Given the description of an element on the screen output the (x, y) to click on. 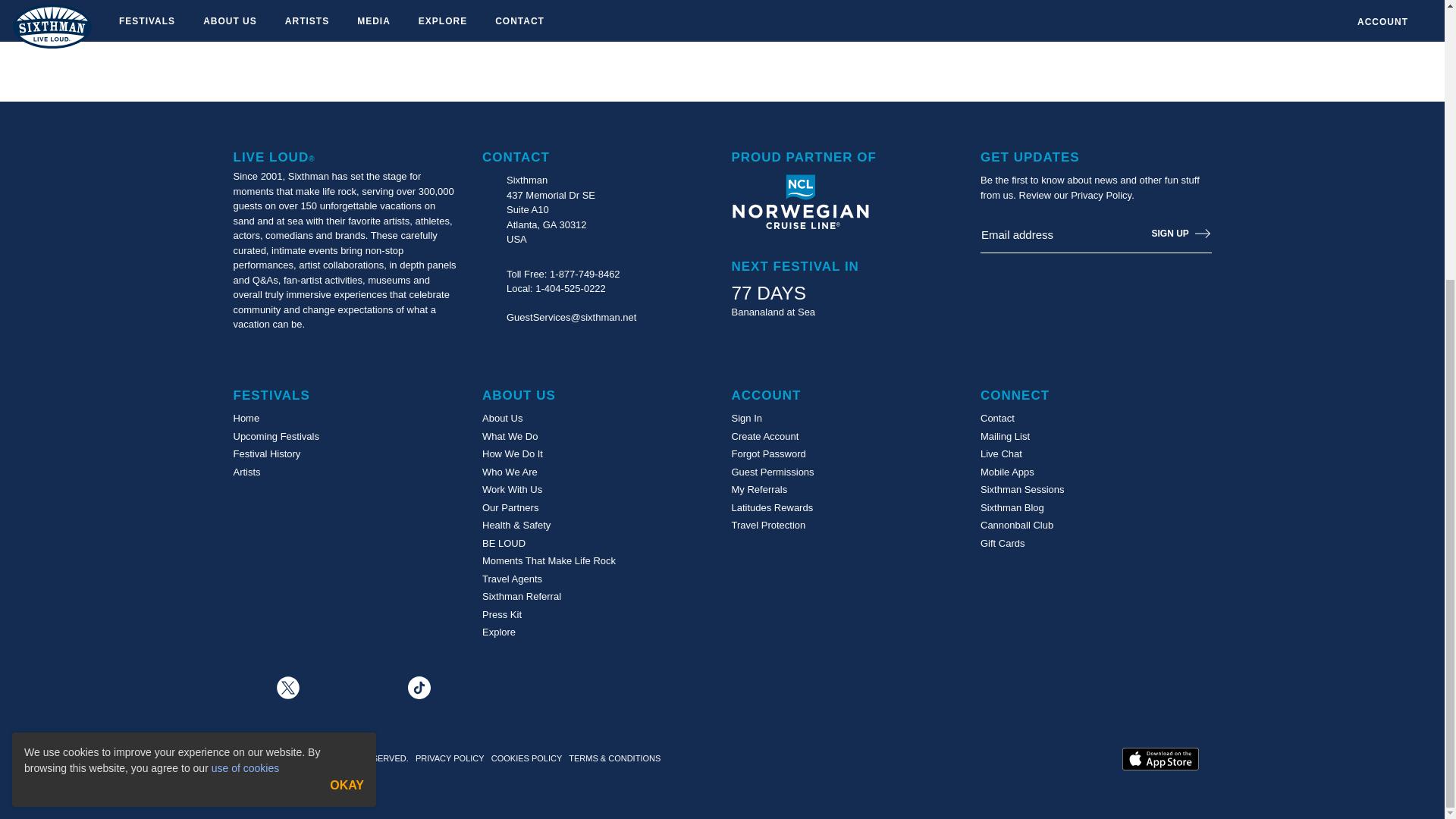
Instagram (375, 686)
Norwegian Cruise Line (799, 201)
YouTube (462, 687)
X (289, 686)
Spotify (331, 686)
Bananaland at Sea (772, 311)
YouTube (462, 686)
TikTok (420, 686)
Download iPhone App (1160, 758)
Spotify (331, 687)
Instagram (375, 687)
Facebook (244, 686)
Facebook (244, 687)
